Given the description of an element on the screen output the (x, y) to click on. 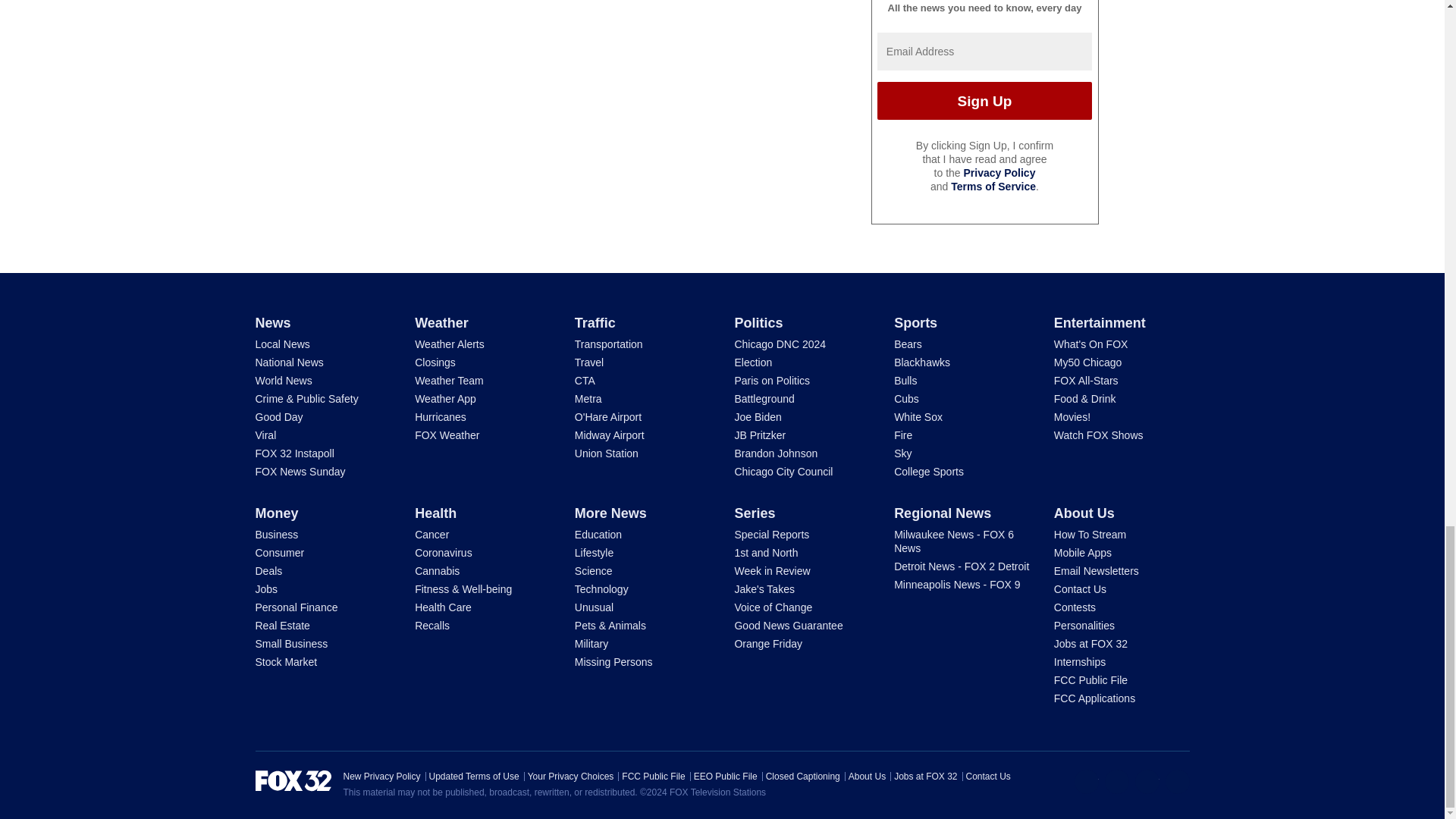
Sign Up (984, 100)
